Given the description of an element on the screen output the (x, y) to click on. 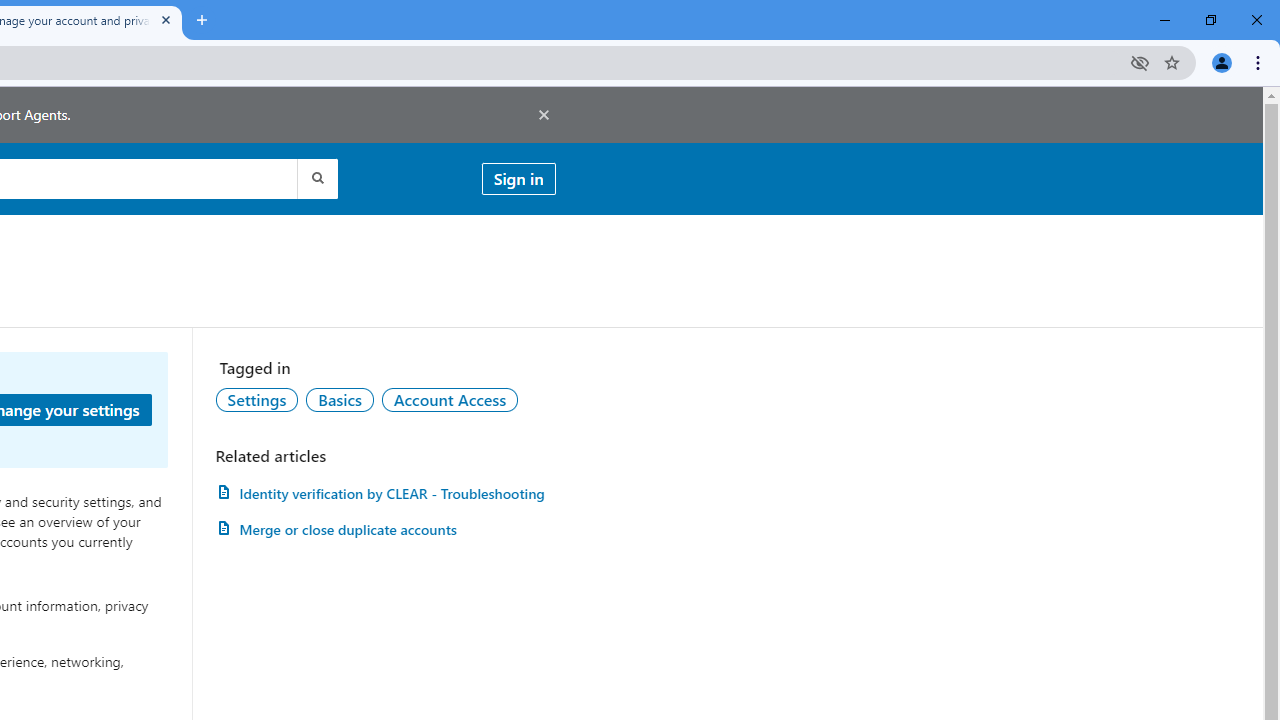
AutomationID: topic-link-a151002 (449, 399)
Basics (339, 399)
Submit search (316, 178)
Identity verification by CLEAR - Troubleshooting (385, 493)
AutomationID: topic-link-a149001 (257, 399)
AutomationID: topic-link-a51 (339, 399)
AutomationID: article-link-a1457505 (385, 493)
